Given the description of an element on the screen output the (x, y) to click on. 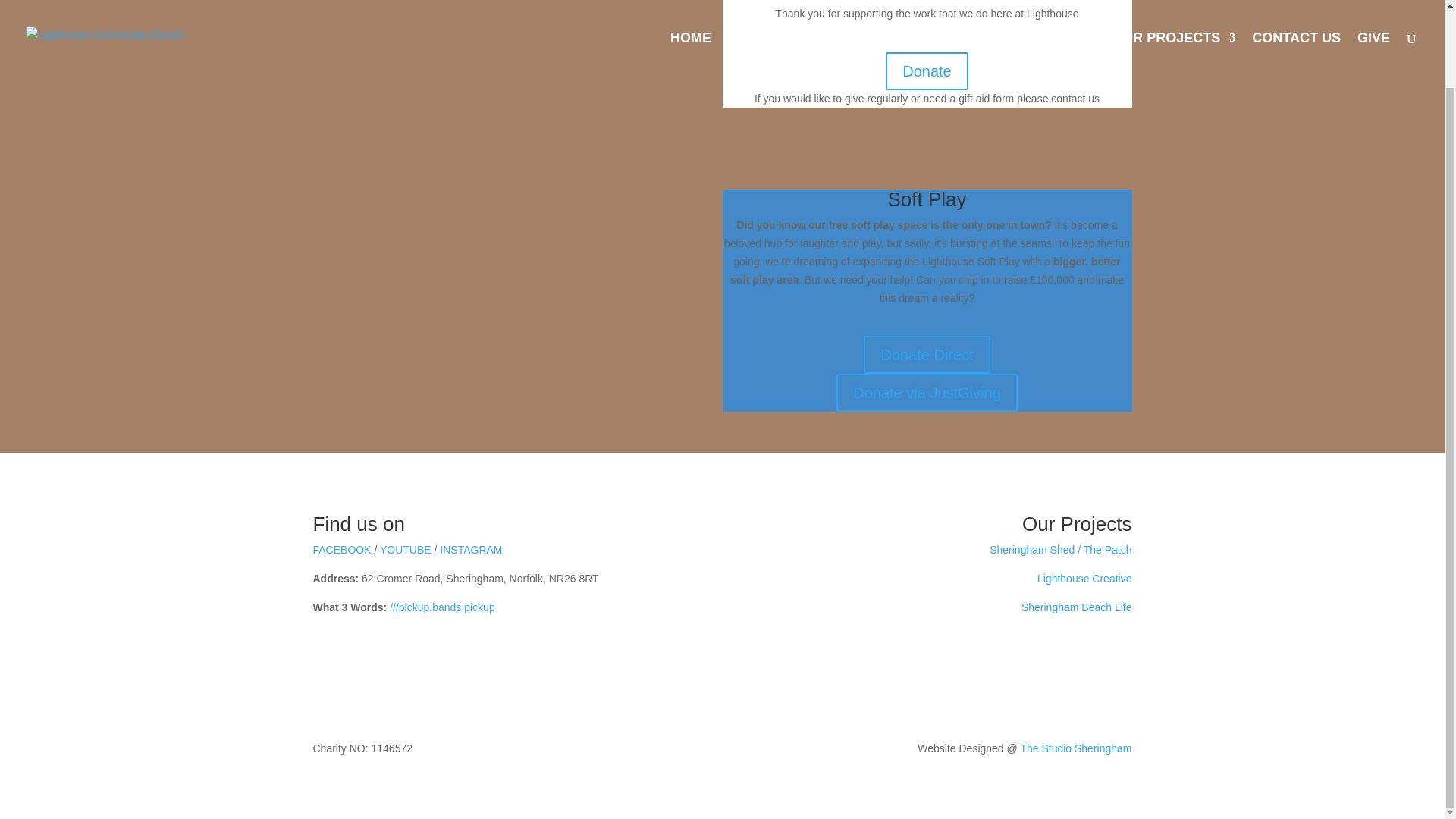
INSTAGRAM (470, 549)
The Studio Sheringham (1075, 748)
FACEBOOK (342, 549)
YOUTUBE (405, 549)
Sheringham Beach Life (1077, 607)
Lighthouse Creative (1084, 578)
Donate via JustGiving (926, 392)
Donate Direct (926, 354)
Donate (926, 71)
